Given the description of an element on the screen output the (x, y) to click on. 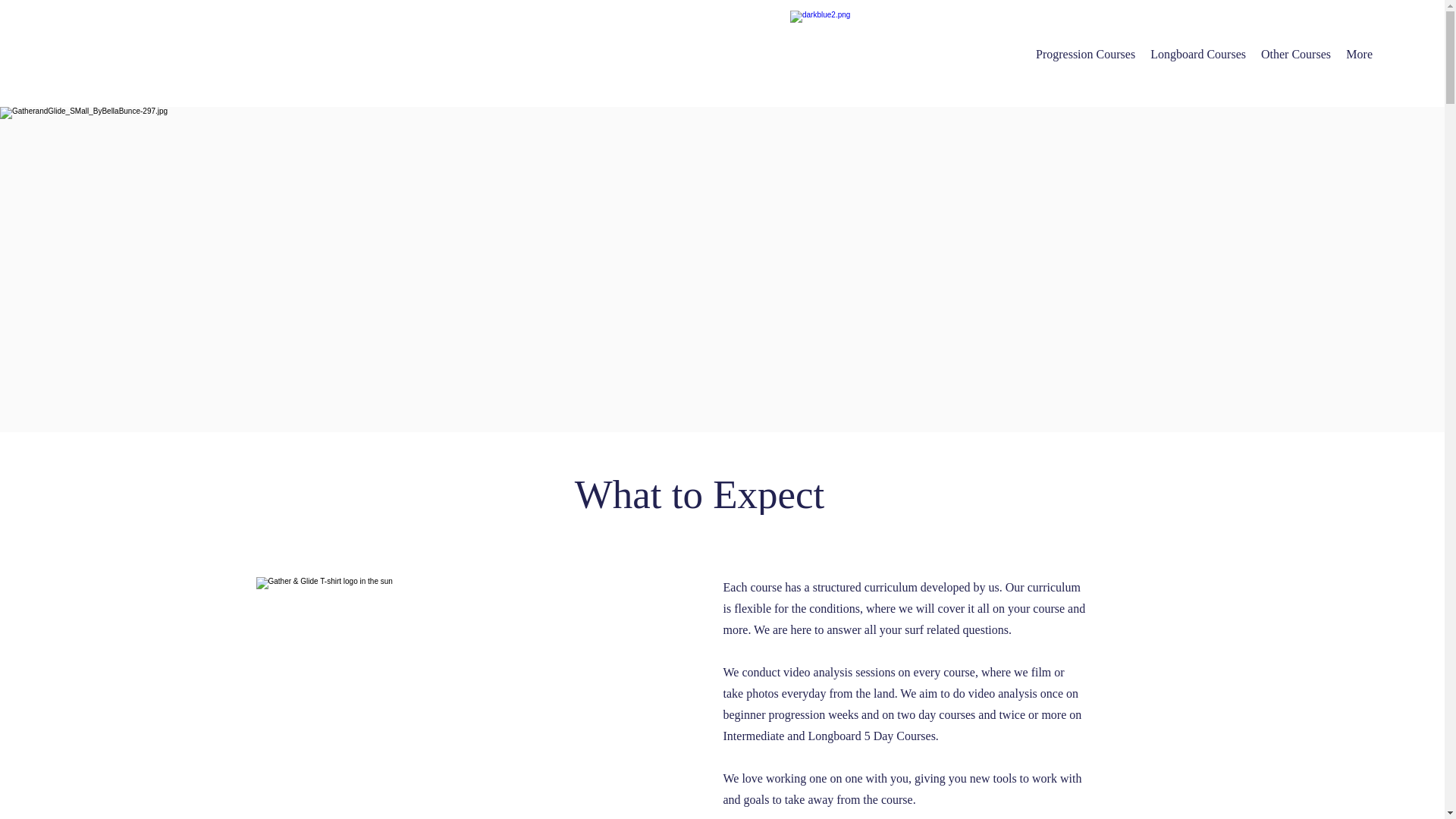
Longboard Courses (1197, 54)
Progression Courses (1084, 54)
Other Courses (1295, 54)
